Given the description of an element on the screen output the (x, y) to click on. 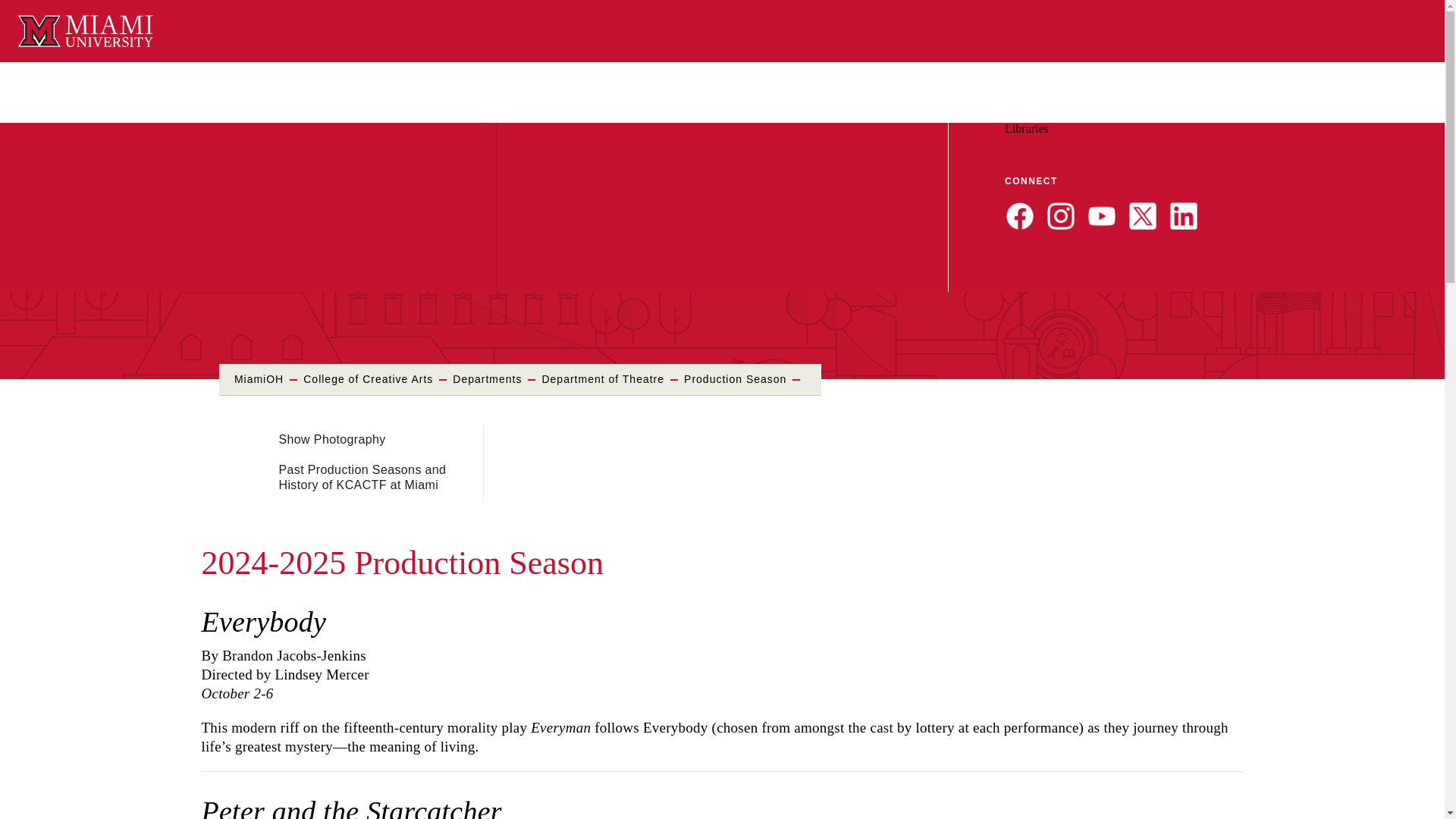
Departments (486, 379)
Pay My Bill (1232, 114)
College of Creative Arts (367, 379)
MiamiOH (258, 379)
Production Season (735, 379)
Libraries (1026, 128)
Past Production Seasons and History of KCACTF at Miami (362, 477)
One Stop (1287, 114)
Show Photography (332, 439)
News and Events (1157, 114)
Department of Theatre (107, 79)
Workday (1090, 114)
myMiami (1034, 114)
